Given the description of an element on the screen output the (x, y) to click on. 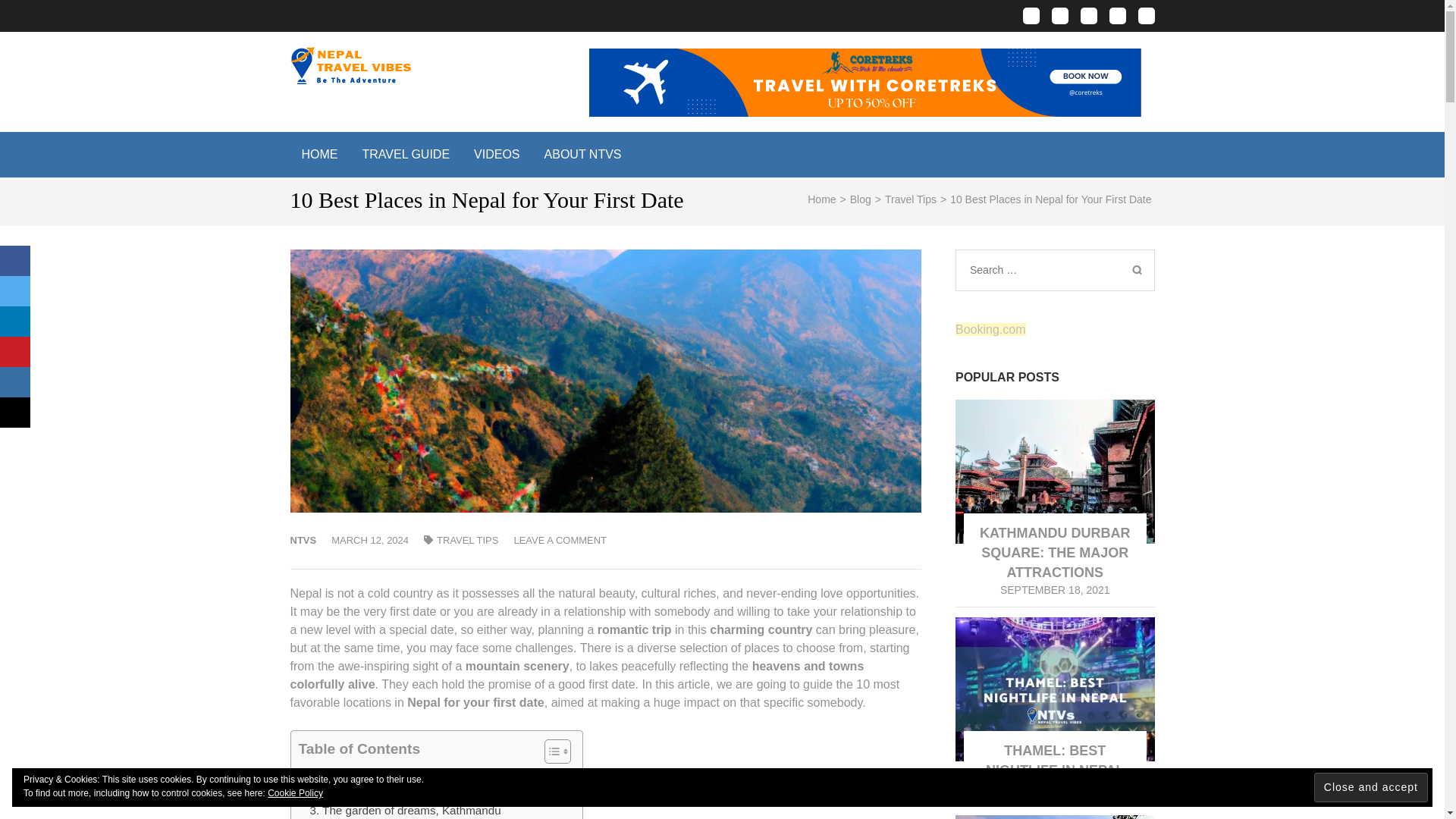
twitter (1088, 15)
Search (1136, 270)
Phewa Lake, Pokhara (365, 791)
Home (821, 199)
TRAVEL GUIDE (405, 154)
NEPAL TRAVEL VIBES (580, 84)
Boudhanath Stupa (356, 773)
facebook (1030, 15)
HOME (319, 154)
ABOUT NTVS (582, 154)
pinterest (1116, 15)
instagram (1059, 15)
Close and accept (1371, 787)
tiktok (1145, 15)
VIDEOS (497, 154)
